Given the description of an element on the screen output the (x, y) to click on. 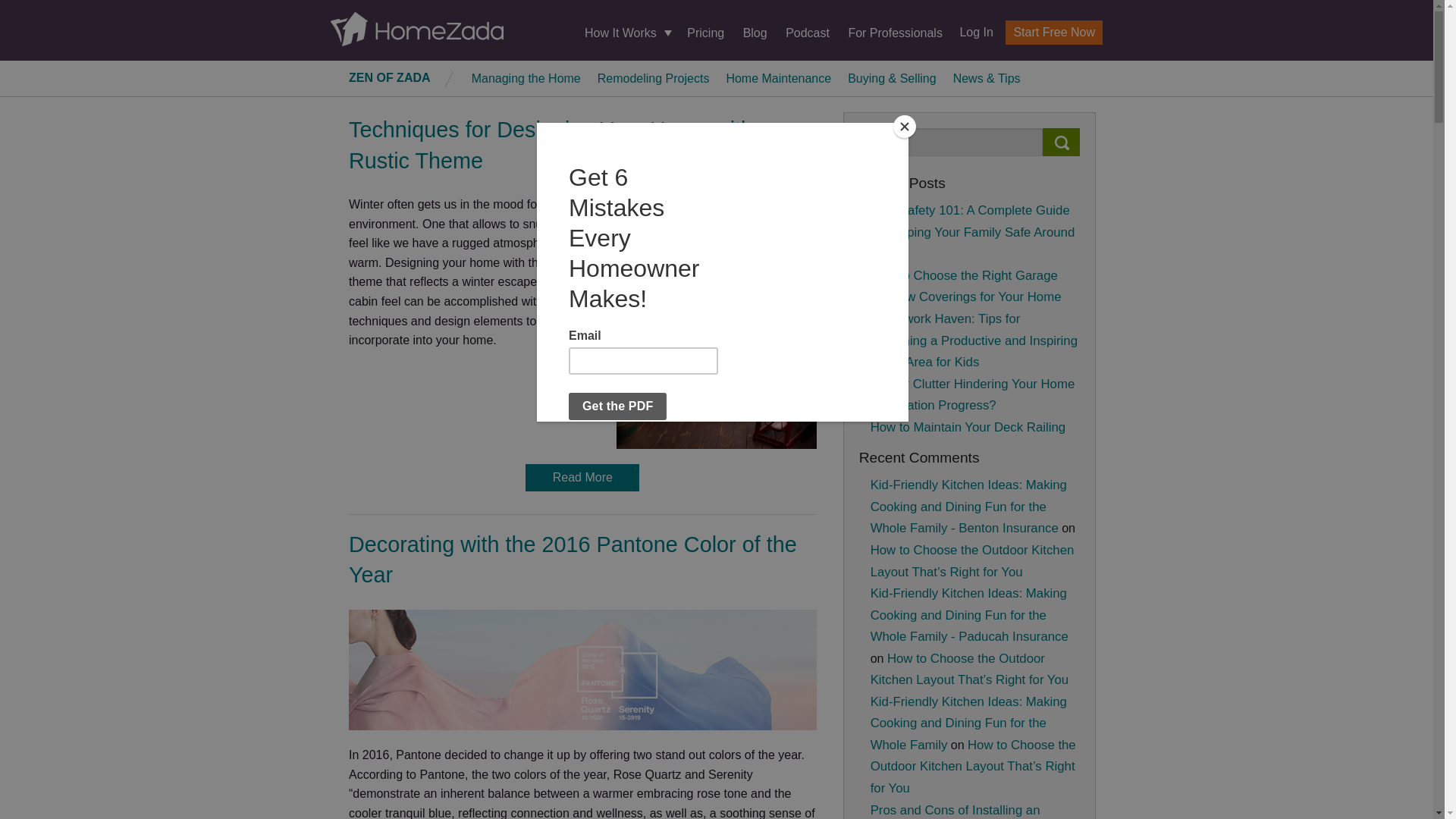
Home Maintenance (778, 77)
For Professionals (894, 32)
How It Works (626, 33)
Start Free Now (1054, 32)
Podcast (807, 32)
Techniques for Designing Your Home with a Rustic Theme (560, 144)
Remodeling Projects (653, 77)
Read More (582, 477)
Managing the Home (525, 77)
ZEN OF ZADA (389, 77)
Log In (969, 31)
Pricing (705, 32)
Decorating with the 2016 Pantone Color of the Year (572, 559)
Blog (754, 32)
